Given the description of an element on the screen output the (x, y) to click on. 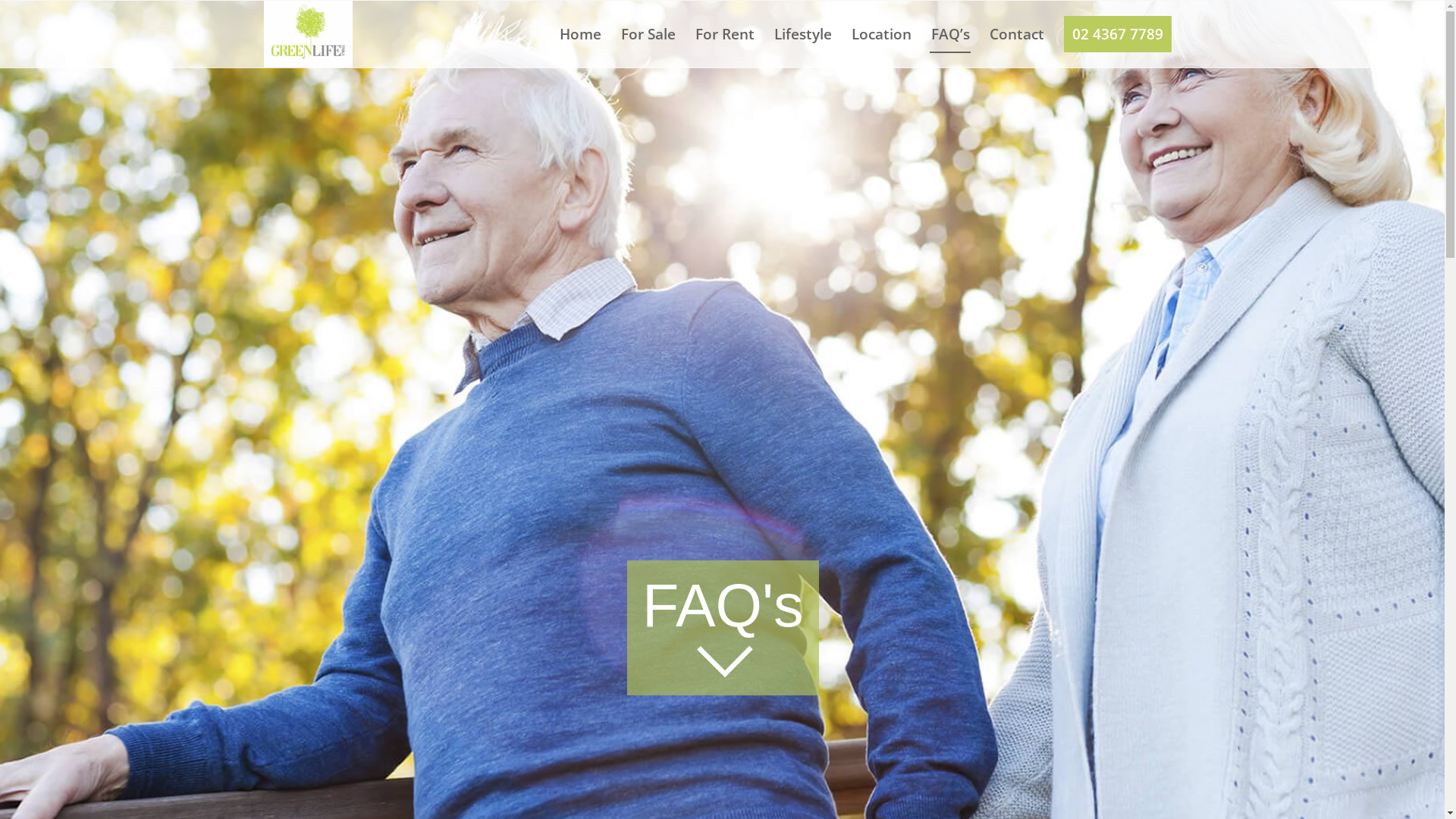
Contact Element type: text (1016, 33)
Lifestyle Element type: text (802, 33)
For Sale Element type: text (648, 33)
For Rent Element type: text (724, 33)
Location Element type: text (881, 33)
Home Element type: text (579, 33)
02 4367 7789 Element type: text (1117, 33)
